Given the description of an element on the screen output the (x, y) to click on. 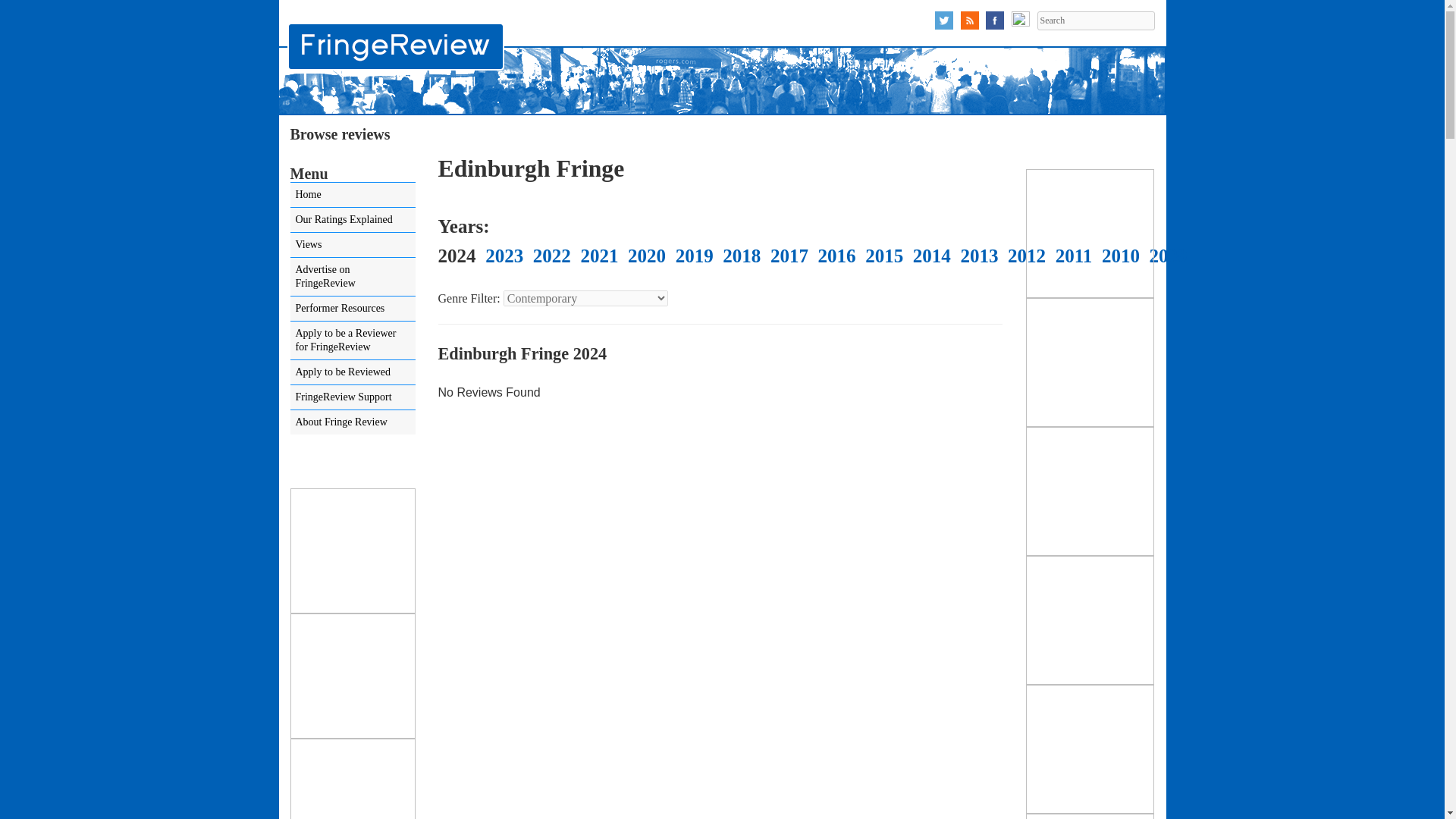
Our Ratings Explained (351, 219)
Performer Resources (351, 308)
Views (351, 244)
FringeReview Support (351, 396)
Apply to be Reviewed (351, 372)
Search (1095, 20)
Search (1095, 20)
Search for: (1095, 20)
About Fringe Review (351, 422)
Apply to be a Reviewer for FringeReview (351, 340)
Home (351, 194)
Advertise on FringeReview (351, 276)
